Given the description of an element on the screen output the (x, y) to click on. 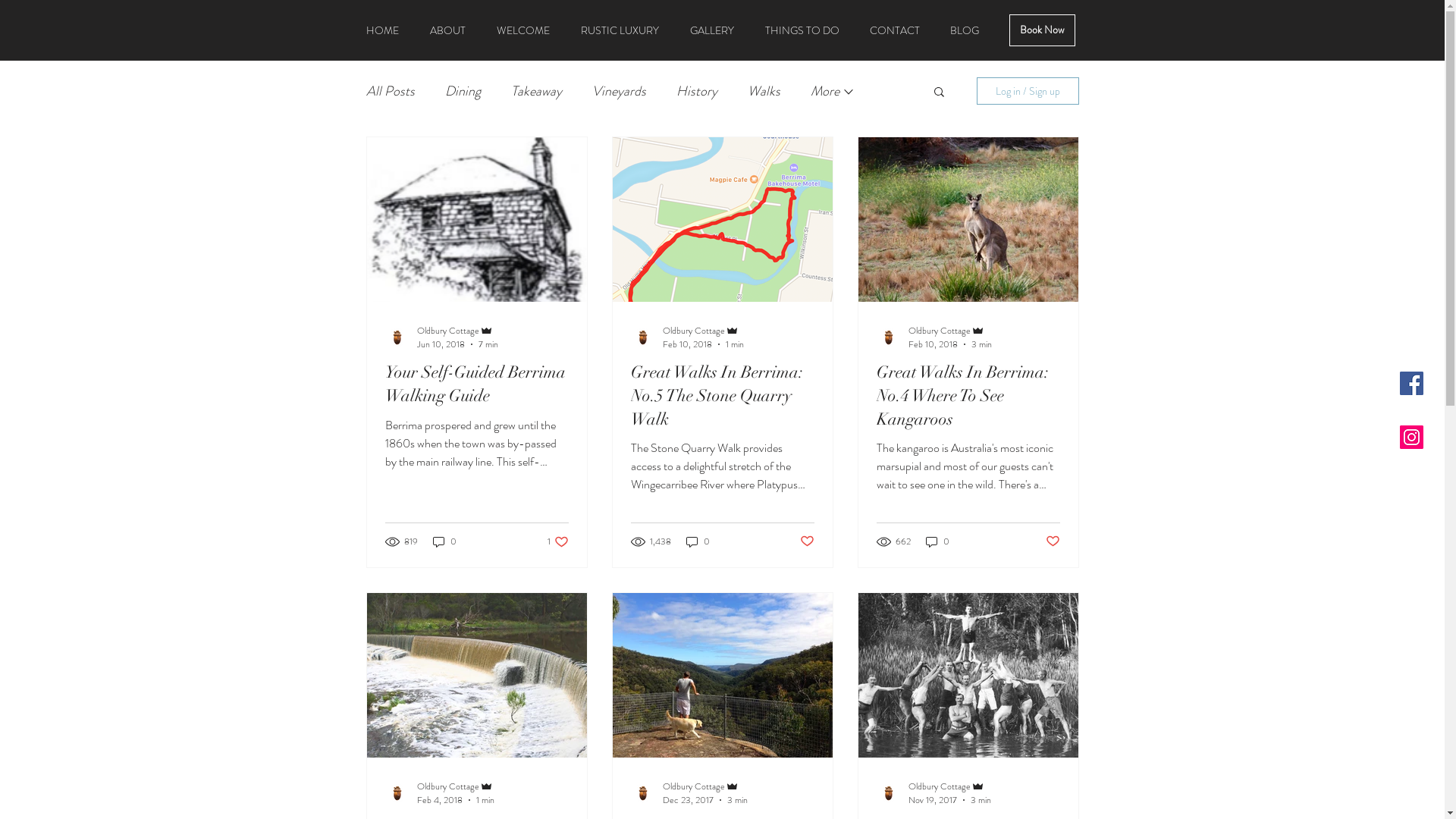
0 Element type: text (936, 540)
THINGS TO DO Element type: text (801, 30)
Great Walks In Berrima: No.5 The Stone Quarry Walk Element type: text (722, 395)
WELCOME Element type: text (522, 30)
Your Self-Guided Berrima Walking Guide Element type: text (476, 383)
Takeaway Element type: text (536, 90)
BLOG Element type: text (963, 30)
Post not marked as liked Element type: text (1051, 541)
RUSTIC LUXURY Element type: text (619, 30)
0 Element type: text (697, 540)
1 like. Post not marked as liked
1 Element type: text (557, 540)
HOME Element type: text (382, 30)
Great Walks In Berrima: No.4 Where To See Kangaroos Element type: text (968, 395)
Log in / Sign up Element type: text (1027, 90)
Dining Element type: text (462, 90)
All Posts Element type: text (389, 90)
Post not marked as liked Element type: text (806, 541)
History Element type: text (696, 90)
CONTACT Element type: text (893, 30)
Book Now Element type: text (1041, 30)
ABOUT Element type: text (447, 30)
0 Element type: text (443, 540)
Vineyards Element type: text (618, 90)
Walks Element type: text (763, 90)
GALLERY Element type: text (711, 30)
